Given the description of an element on the screen output the (x, y) to click on. 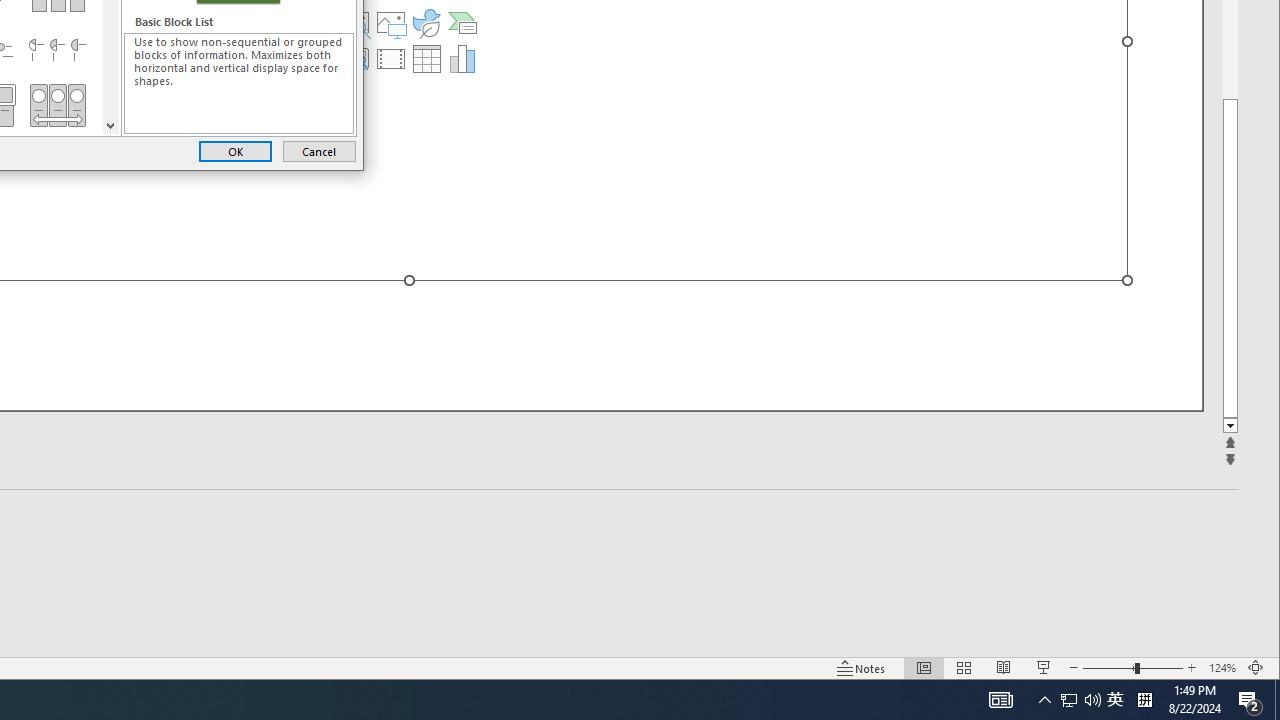
OK (235, 150)
Insert Table (426, 58)
Insert Chart (462, 58)
Insert Video (391, 58)
Action Center, 2 new notifications (1250, 699)
Cancel (319, 150)
Class: NetUITextbox (239, 83)
